Given the description of an element on the screen output the (x, y) to click on. 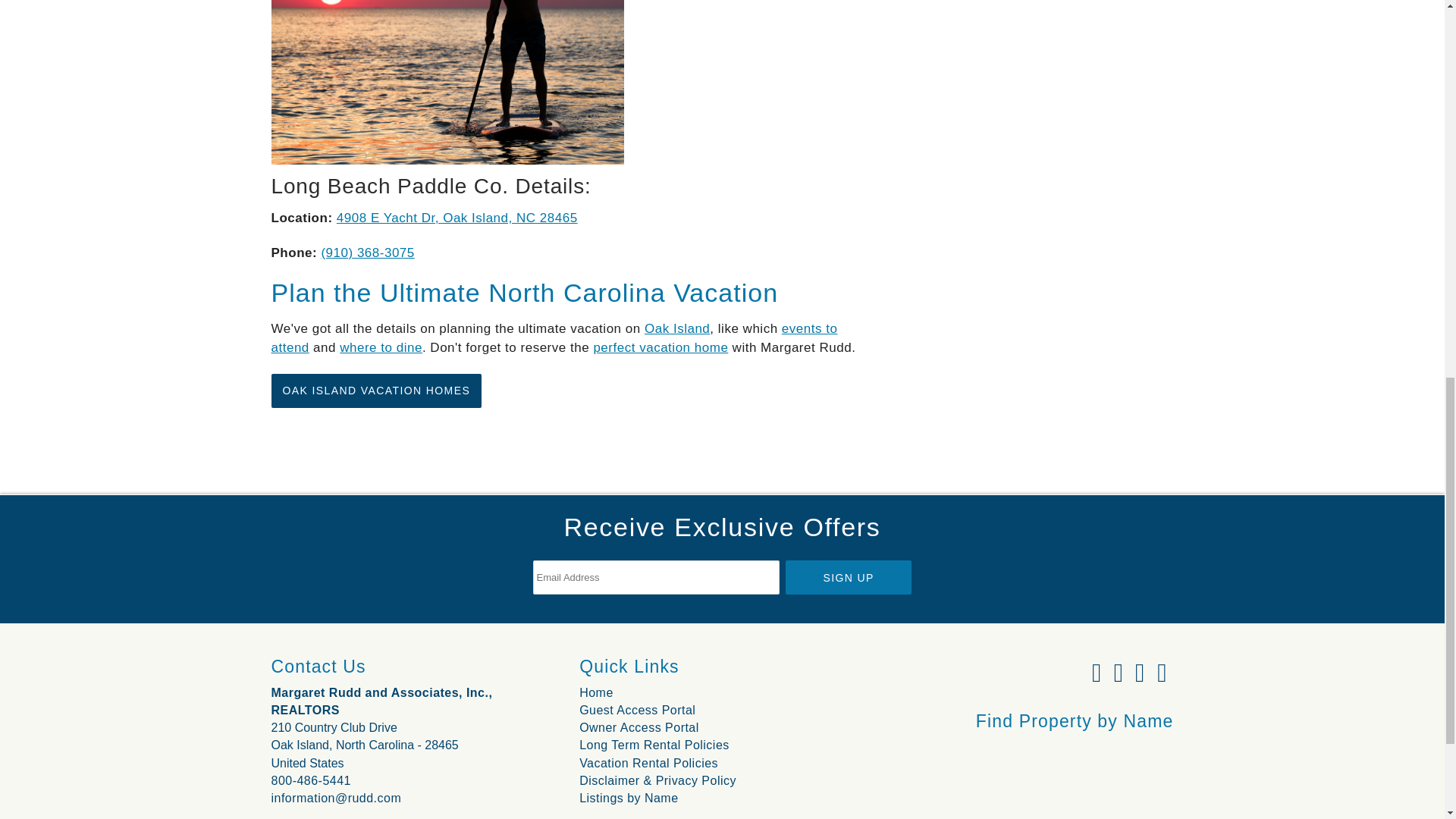
Long Beach Paddle Co. (447, 82)
